Given the description of an element on the screen output the (x, y) to click on. 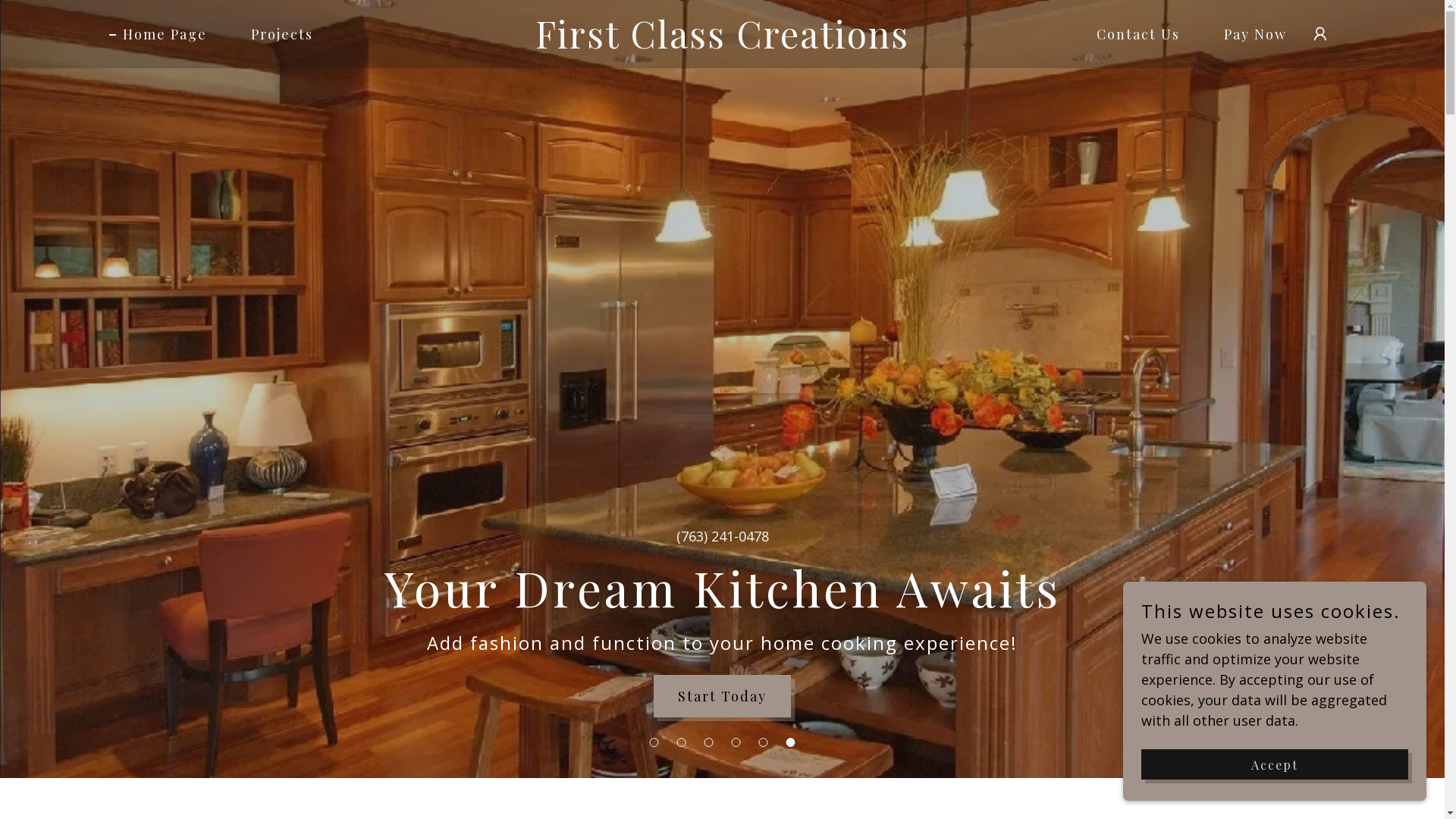
(763) 241-0478 Element type: text (722, 536)
Start Today Element type: text (721, 695)
Projects Element type: text (274, 33)
Home Page Element type: text (158, 34)
Pay Now Element type: text (1248, 33)
First Class Creations Element type: text (721, 43)
Accept Element type: text (1274, 764)
Contact Us Element type: text (1131, 33)
